Given the description of an element on the screen output the (x, y) to click on. 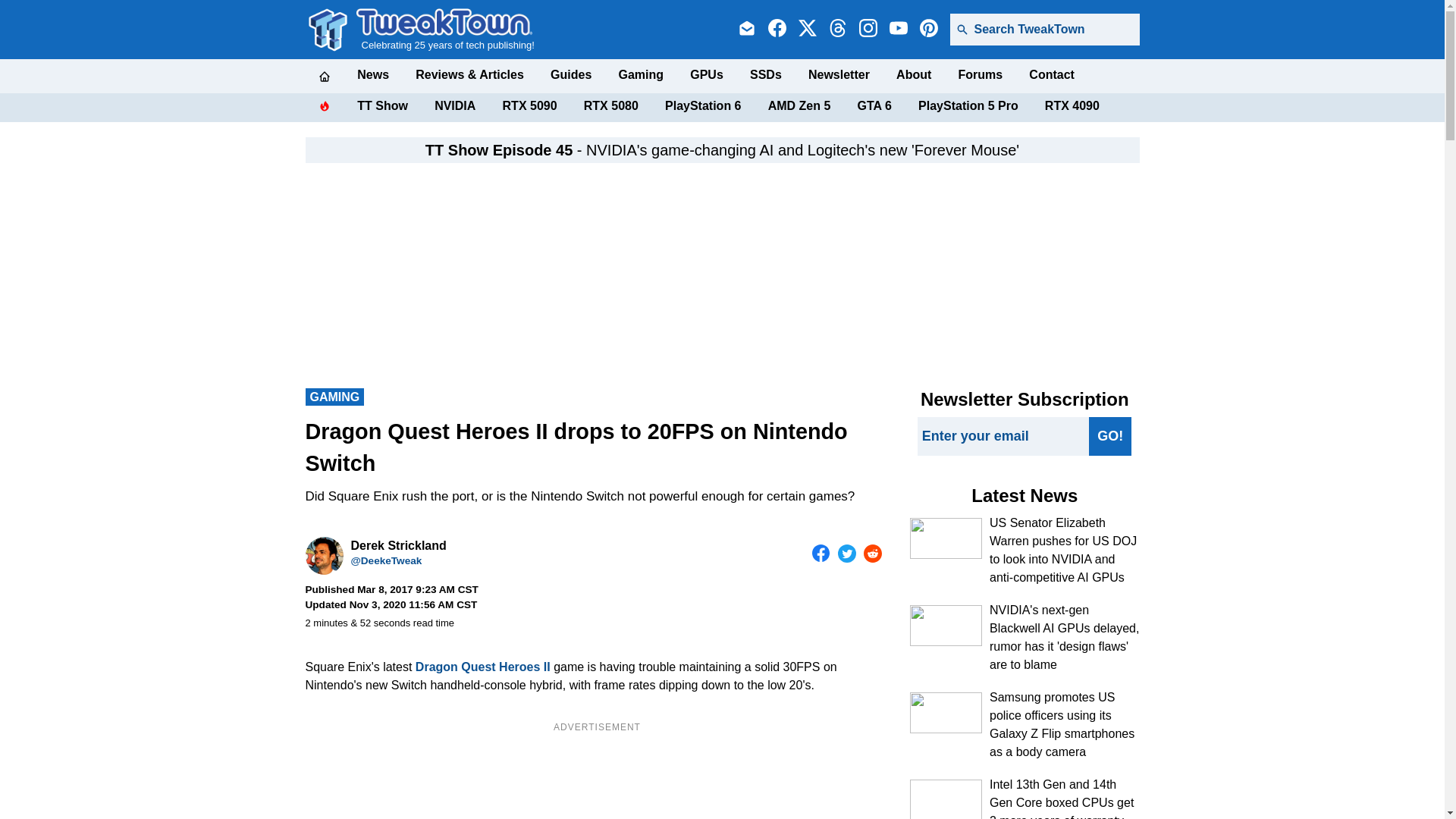
Follow us on Threads (836, 29)
Follow us on Pinterest (927, 29)
Celebrating 25 years of tech publishing! (445, 29)
Sign up to the TweakTown newsletter (745, 29)
News (372, 74)
Subscribe to us on YouTube (897, 29)
Share on Reddit (871, 553)
Share on Twitter (846, 553)
Follow us on Facebook (776, 29)
GO! (1110, 435)
Follow us on Instagram (867, 29)
Follow us on X (806, 29)
Derek Strickland (323, 555)
Share on Facebook (819, 553)
